Given the description of an element on the screen output the (x, y) to click on. 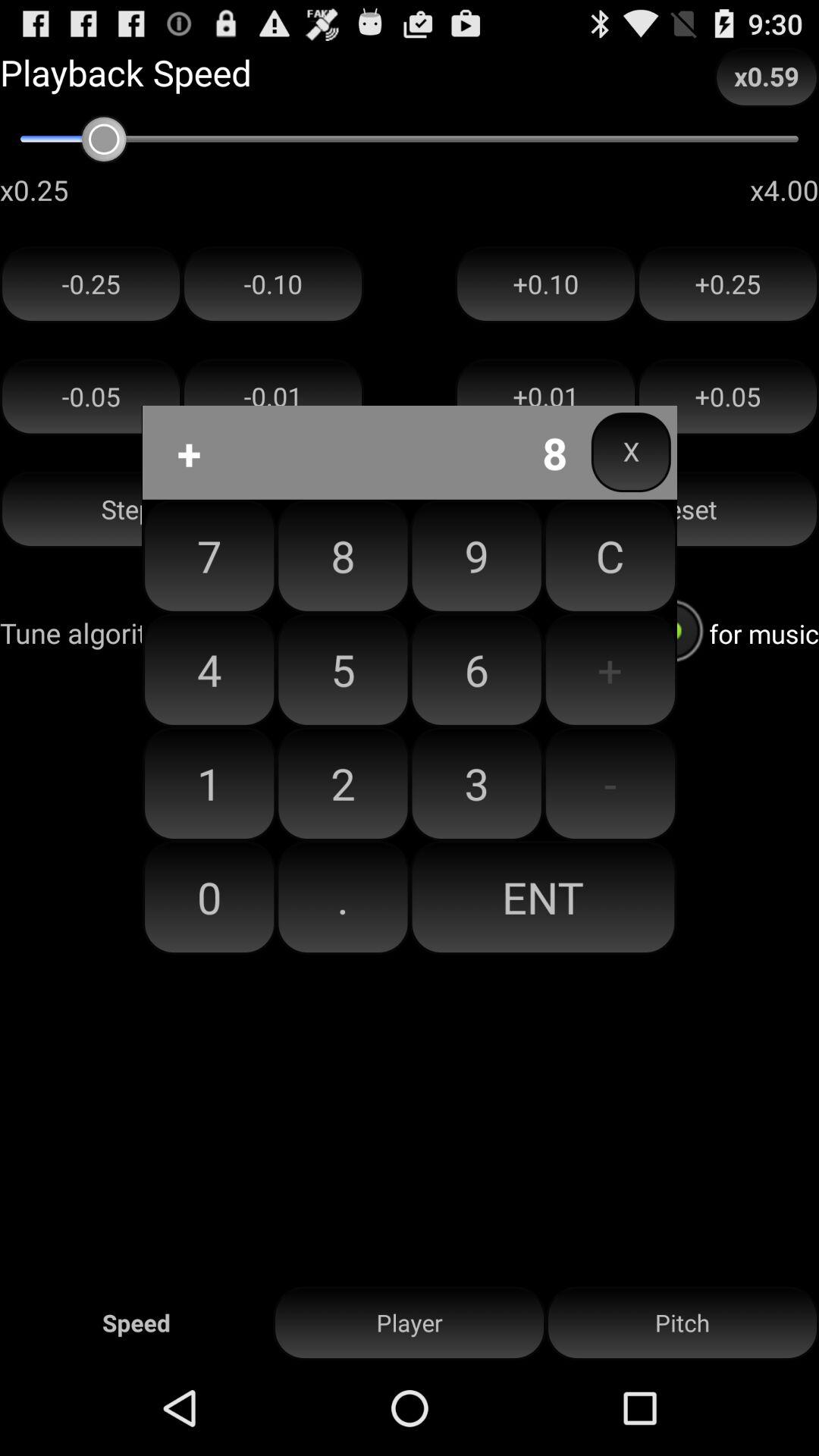
turn on item above the 2 (476, 669)
